Given the description of an element on the screen output the (x, y) to click on. 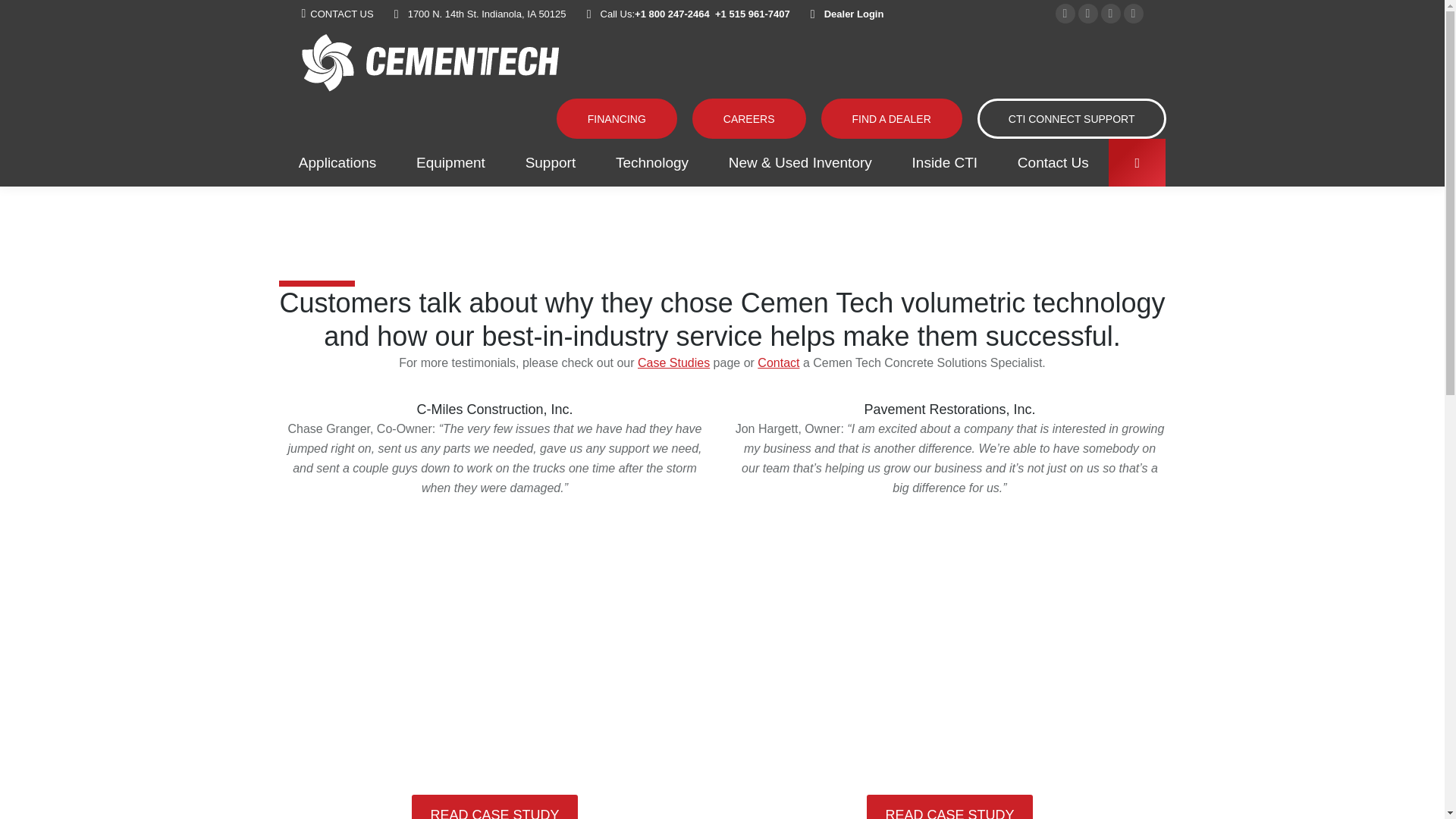
CTI CONNECT SUPPORT (1071, 118)
Linkedin page opens in new window (1087, 13)
Technology (652, 162)
Support (550, 162)
Facebook page opens in new window (1065, 13)
Facebook page opens in new window (1065, 13)
Inside CTI (944, 162)
Dealer Login (853, 12)
Instagram page opens in new window (1133, 13)
